Given the description of an element on the screen output the (x, y) to click on. 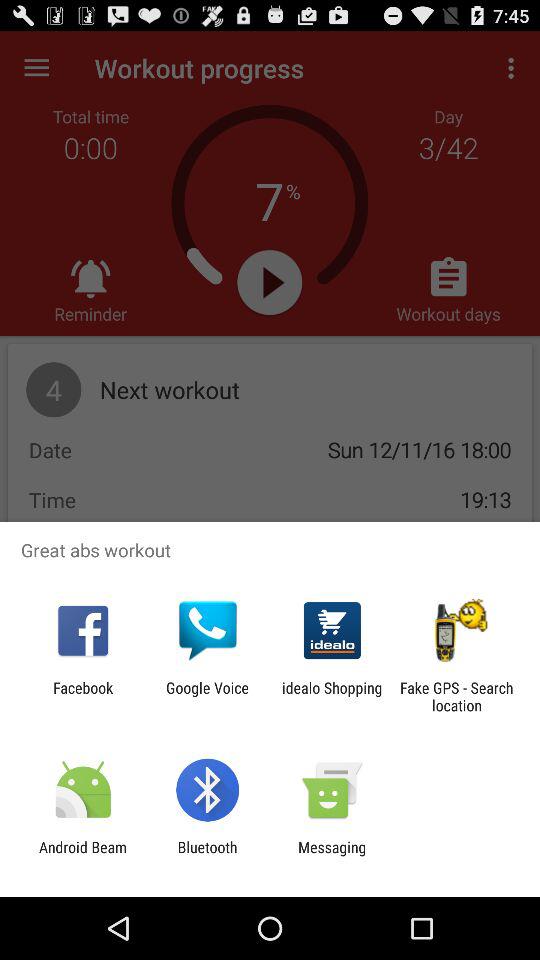
tap item next to fake gps search icon (331, 696)
